Given the description of an element on the screen output the (x, y) to click on. 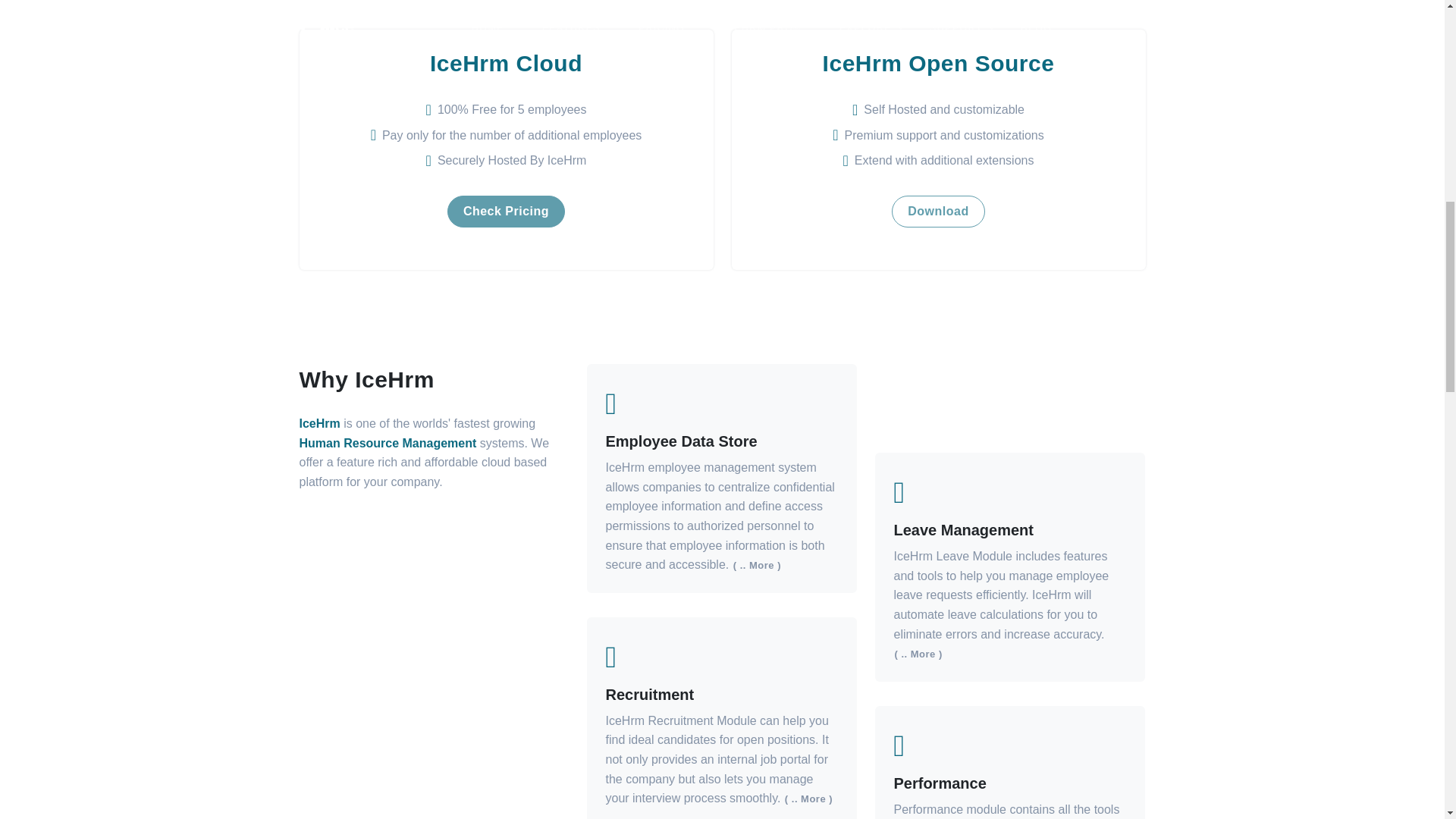
Download (937, 211)
Download (937, 210)
Check Pricing (505, 210)
Check Pricing (505, 211)
